Given the description of an element on the screen output the (x, y) to click on. 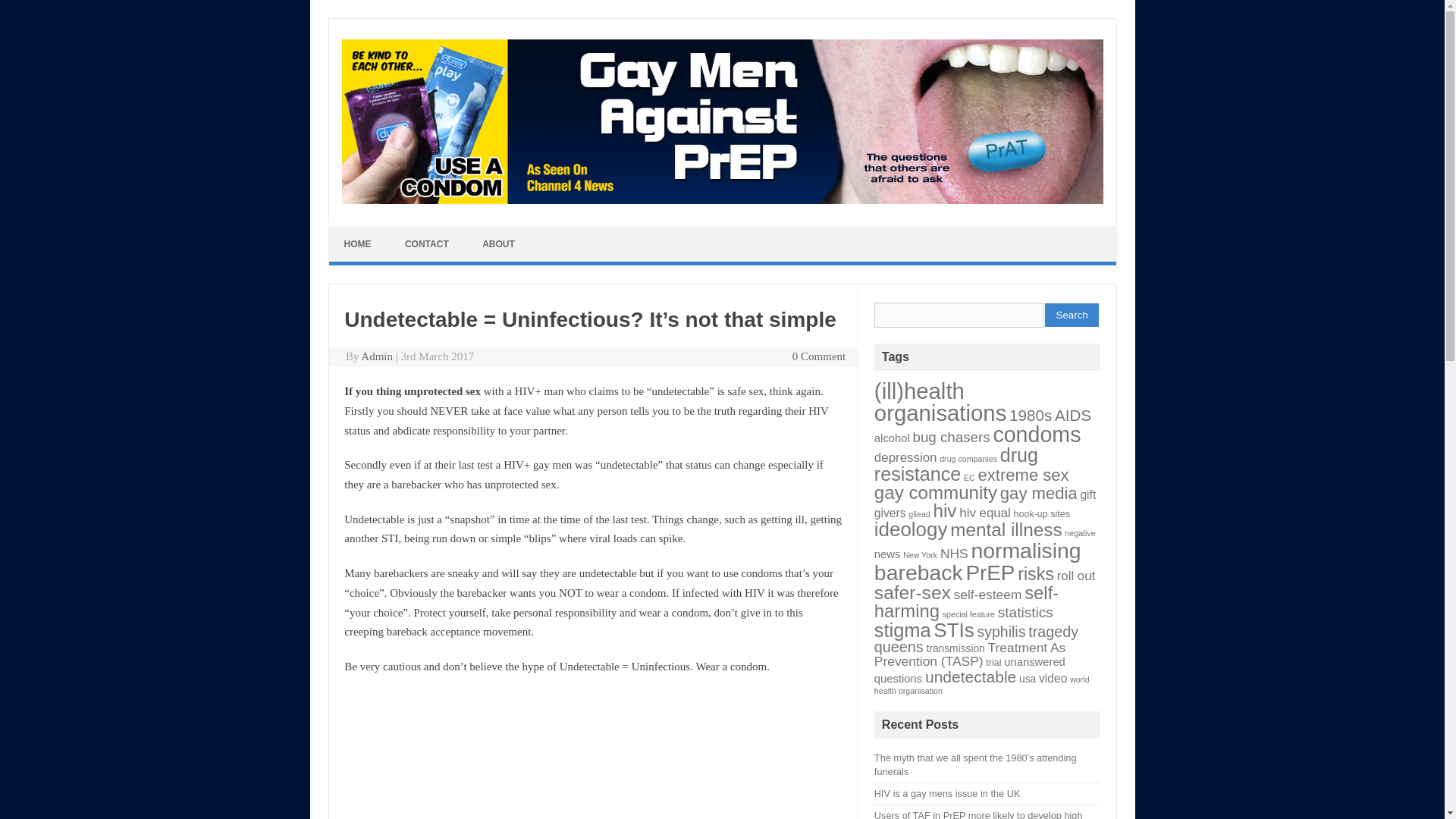
bug chasers (951, 437)
mental illness (1005, 529)
HOME (358, 244)
Skip to content (372, 232)
CONTACT (427, 244)
alcohol (892, 438)
AIDS (1072, 415)
gay media (1038, 493)
1980s (1030, 415)
Gay Men Against PrEP (721, 200)
depression (906, 457)
negative (1079, 532)
EC (969, 477)
news (888, 553)
gilead (919, 513)
